Given the description of an element on the screen output the (x, y) to click on. 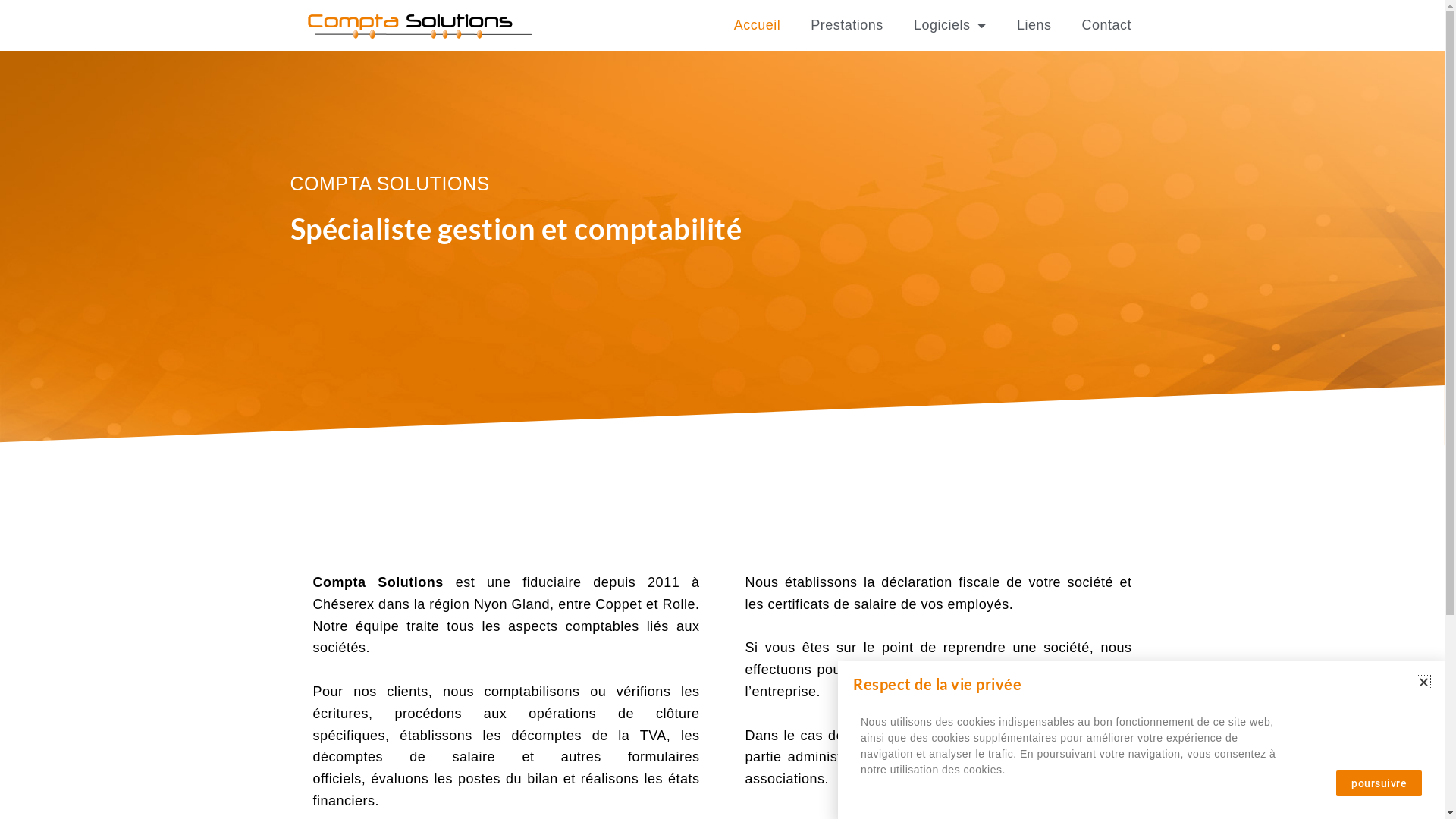
Contact Element type: text (1106, 24)
poursuivre Element type: text (1378, 783)
Logiciels Element type: text (949, 24)
Liens Element type: text (1033, 24)
Prestations Element type: text (846, 24)
Accueil Element type: text (757, 24)
